Given the description of an element on the screen output the (x, y) to click on. 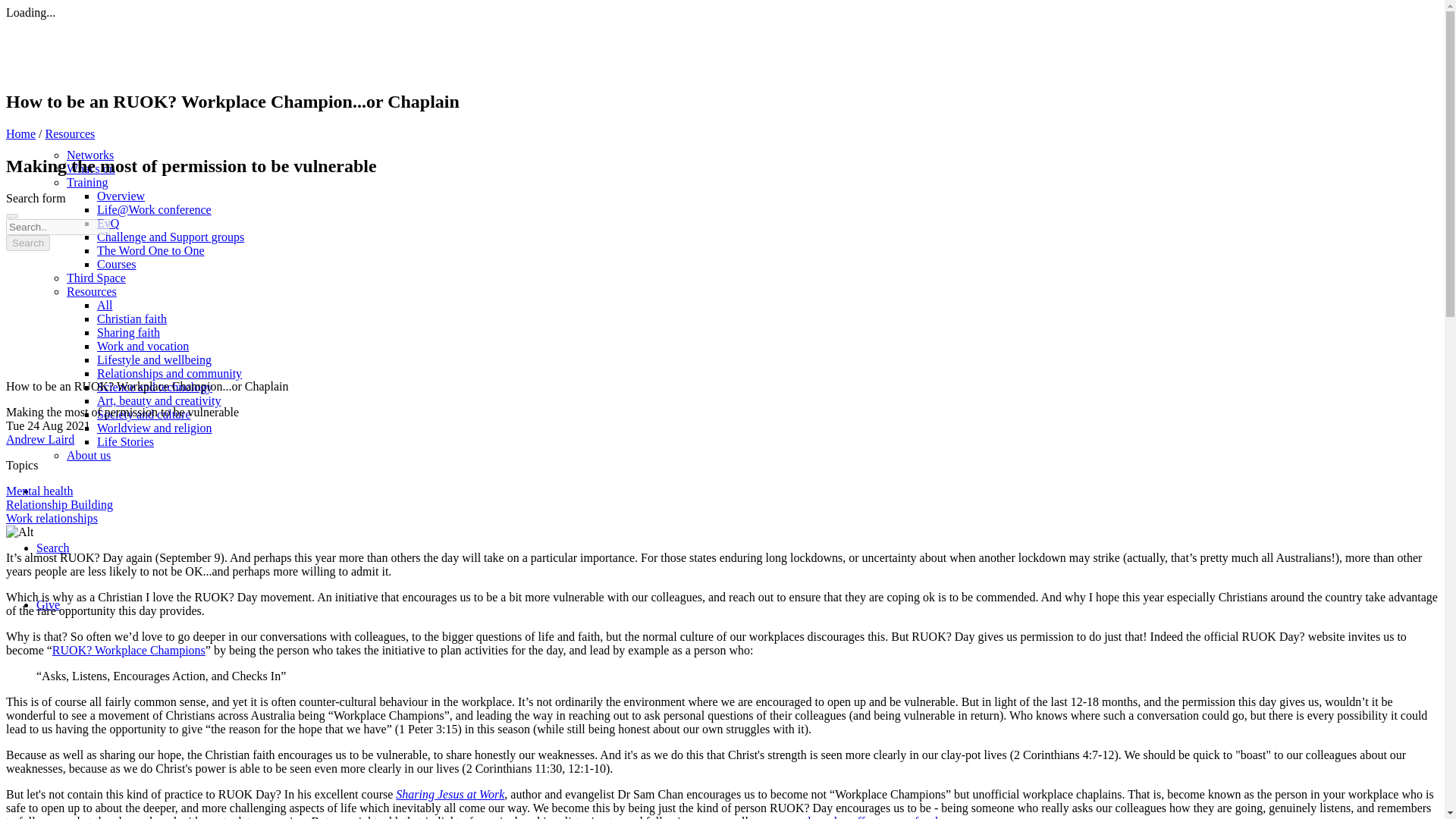
Work and vocation (143, 345)
Mental health (38, 490)
Sharing faith (128, 332)
Home (19, 133)
Search (27, 242)
Life Stories (125, 440)
The Word One to One (151, 250)
Enter the terms you wish to search for. (57, 227)
RUOK? Workplace Champions (128, 649)
Science and technology (154, 386)
Relationship Building (59, 504)
Search (52, 547)
Give (47, 604)
Overview (120, 195)
Training (86, 182)
